Given the description of an element on the screen output the (x, y) to click on. 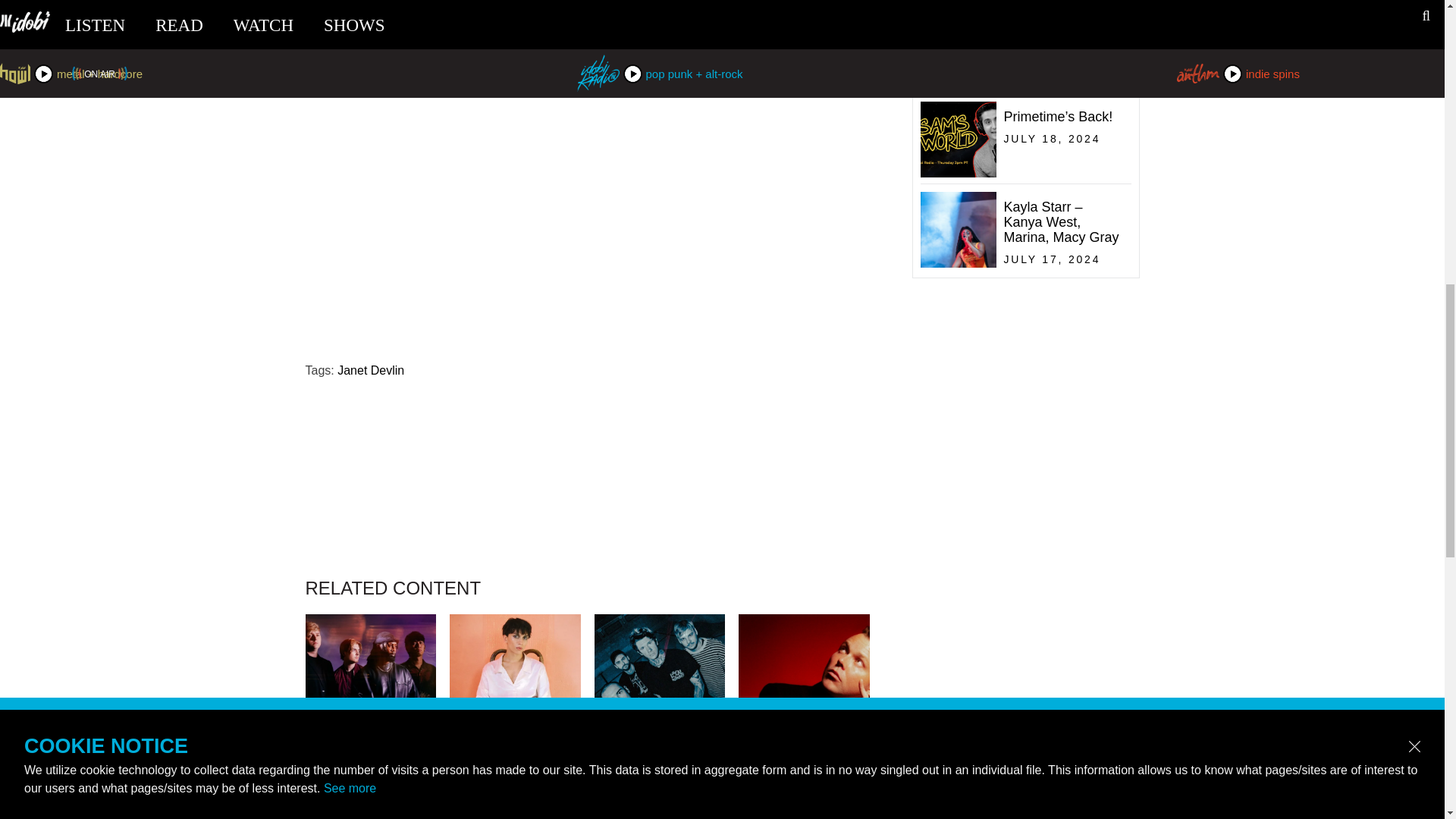
Kickstarter (535, 12)
NEWS (803, 786)
Janet Devlin (370, 369)
NEWS (369, 786)
NEWS (659, 786)
Rain City Drive Announces Massive Headline Fall Tour (659, 807)
FEATURES (514, 786)
